Given the description of an element on the screen output the (x, y) to click on. 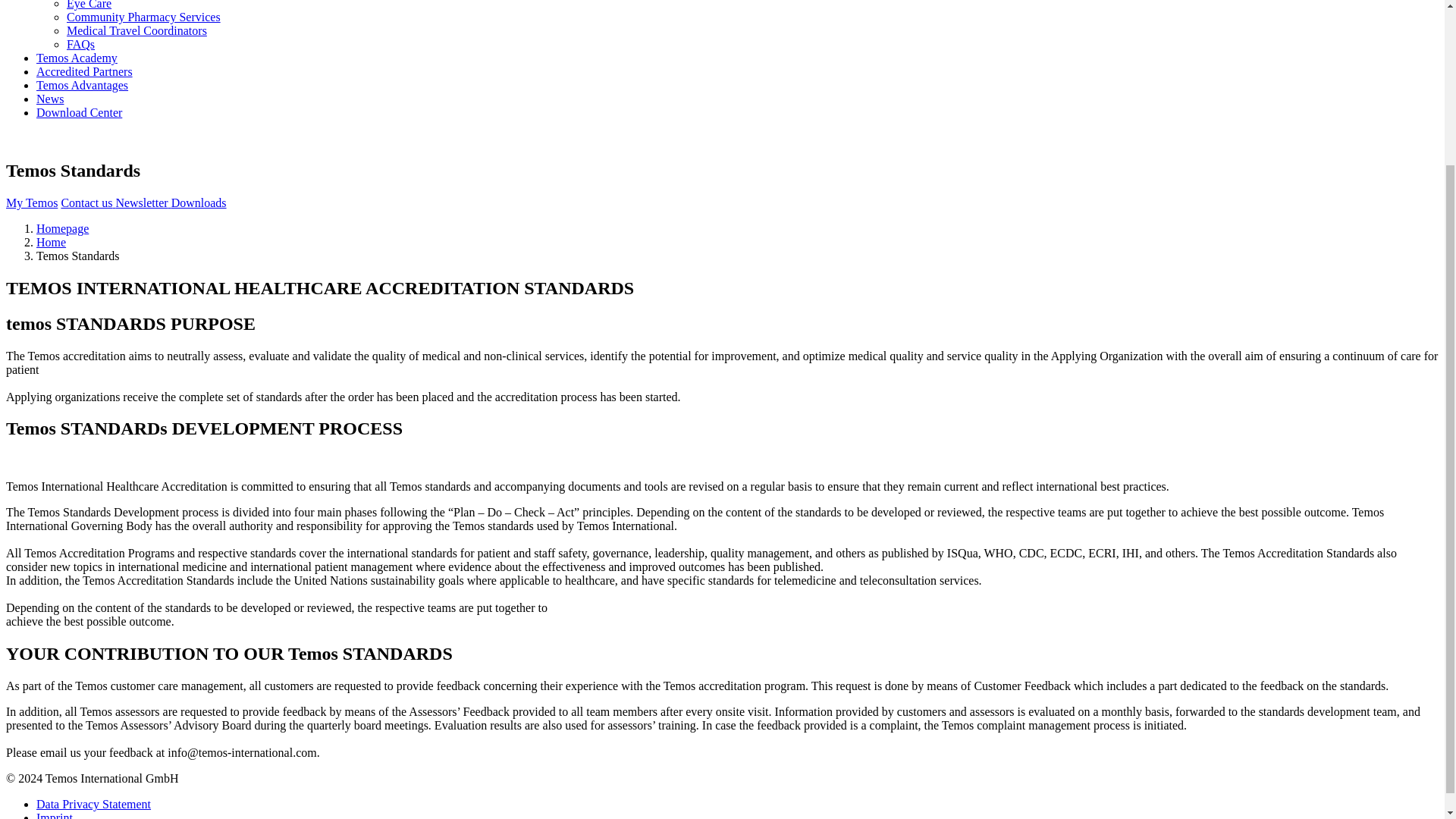
Temos Academy (76, 57)
News (50, 98)
My Temos (31, 202)
Eye Care (89, 4)
FAQs (80, 43)
Medical Travel Coordinators (136, 30)
Download Center (79, 112)
Contact us (88, 202)
Temos Advantages (82, 84)
Accredited Partners (84, 71)
